Given the description of an element on the screen output the (x, y) to click on. 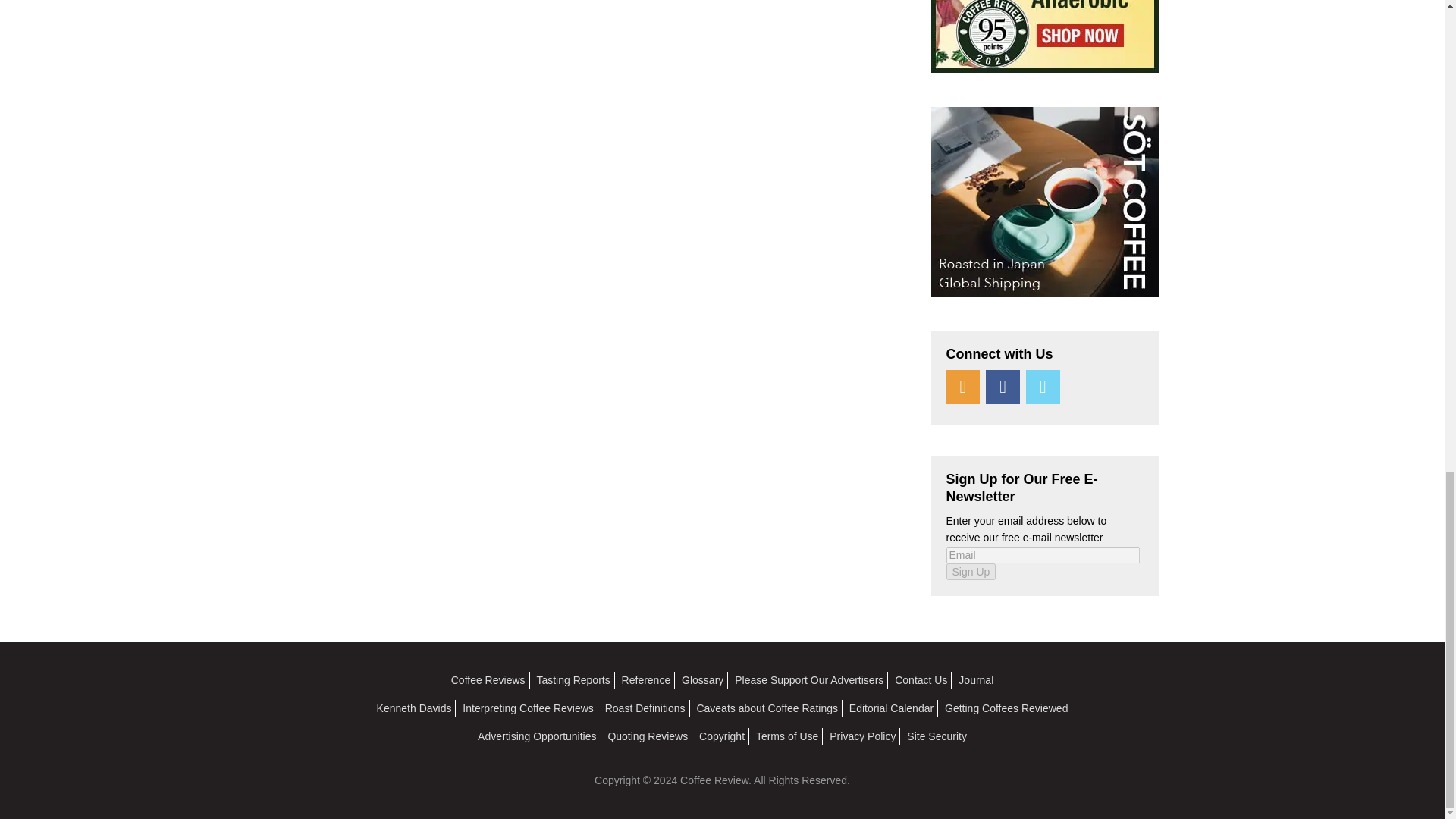
Twitter (1042, 387)
Sign Up (970, 571)
Facebook (1002, 387)
RSS (962, 387)
